Given the description of an element on the screen output the (x, y) to click on. 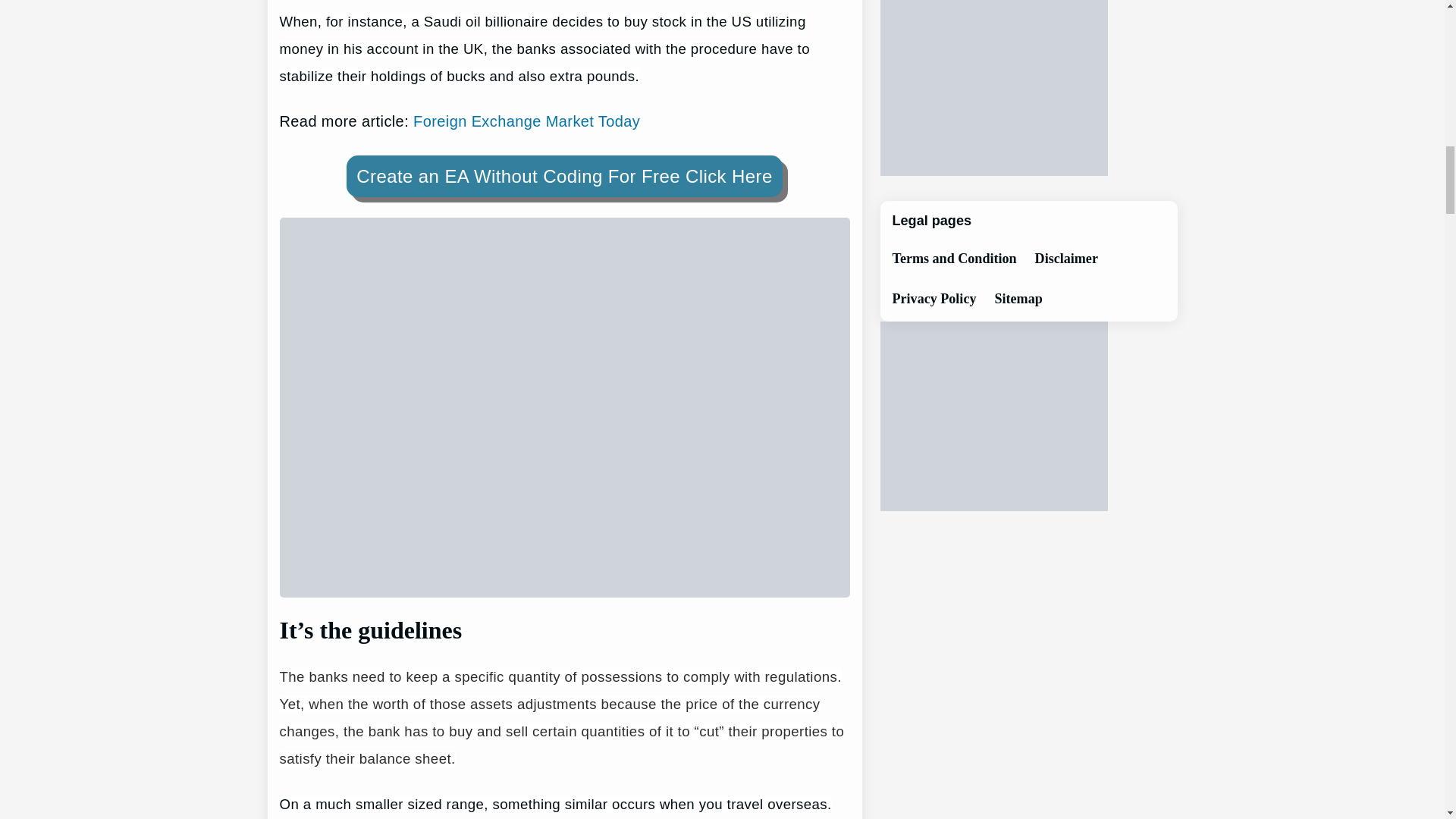
Foreign Exchange Market Today (526, 121)
Create an EA Without Coding For Free Click Here (563, 176)
